Given the description of an element on the screen output the (x, y) to click on. 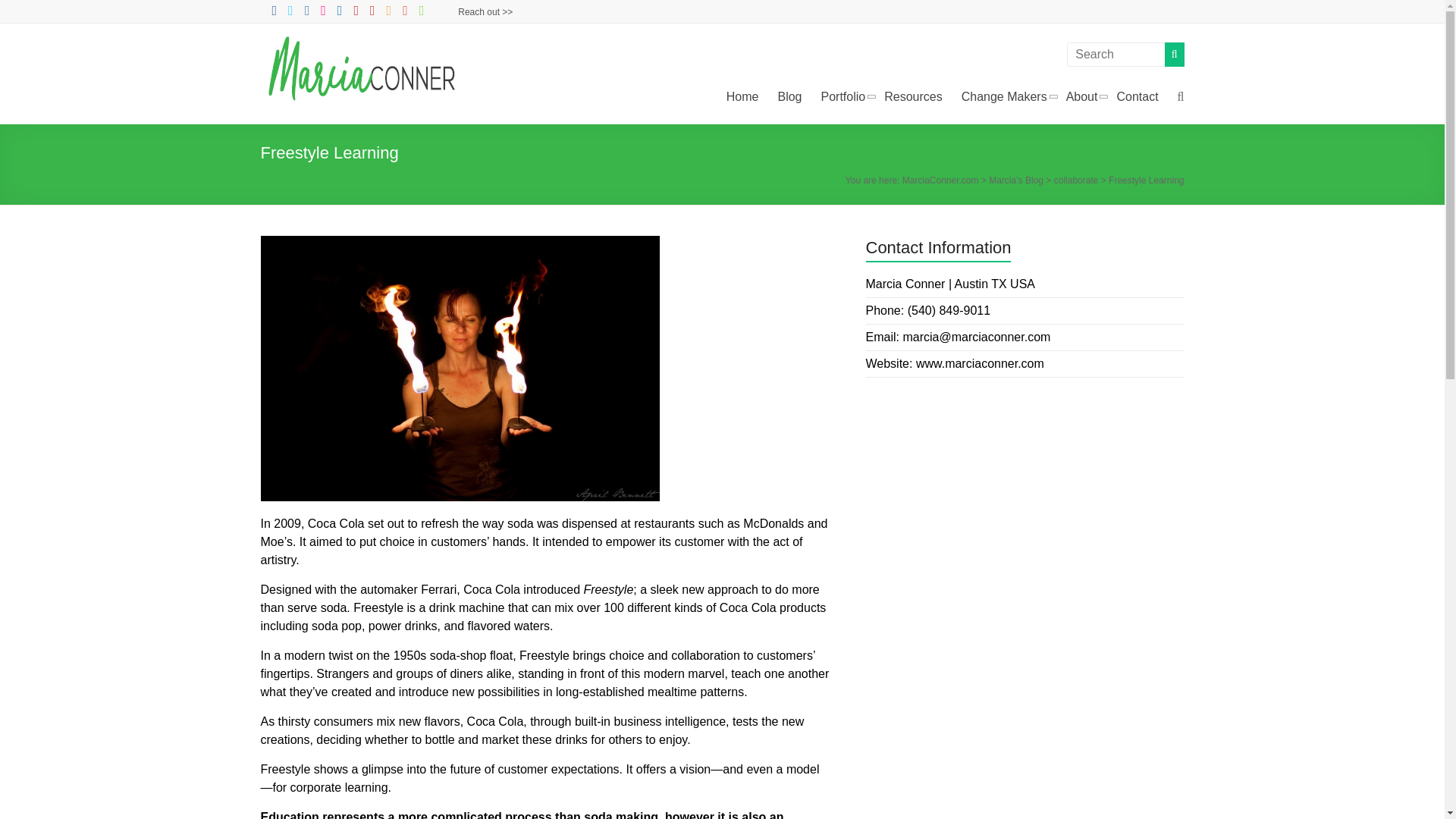
Go to MarciaConner.com. (940, 180)
MarciaConner.com (940, 180)
Contact (1136, 96)
Resources (912, 96)
Portfolio (842, 96)
Home (742, 96)
Change Makers (1003, 96)
Go to the collaborate Category archives. (1076, 180)
collaborate (1076, 180)
MarciaConner.com (363, 55)
MarciaConner.com (363, 55)
Blog (789, 96)
About (1081, 96)
Freestyle Learning (459, 368)
